Given the description of an element on the screen output the (x, y) to click on. 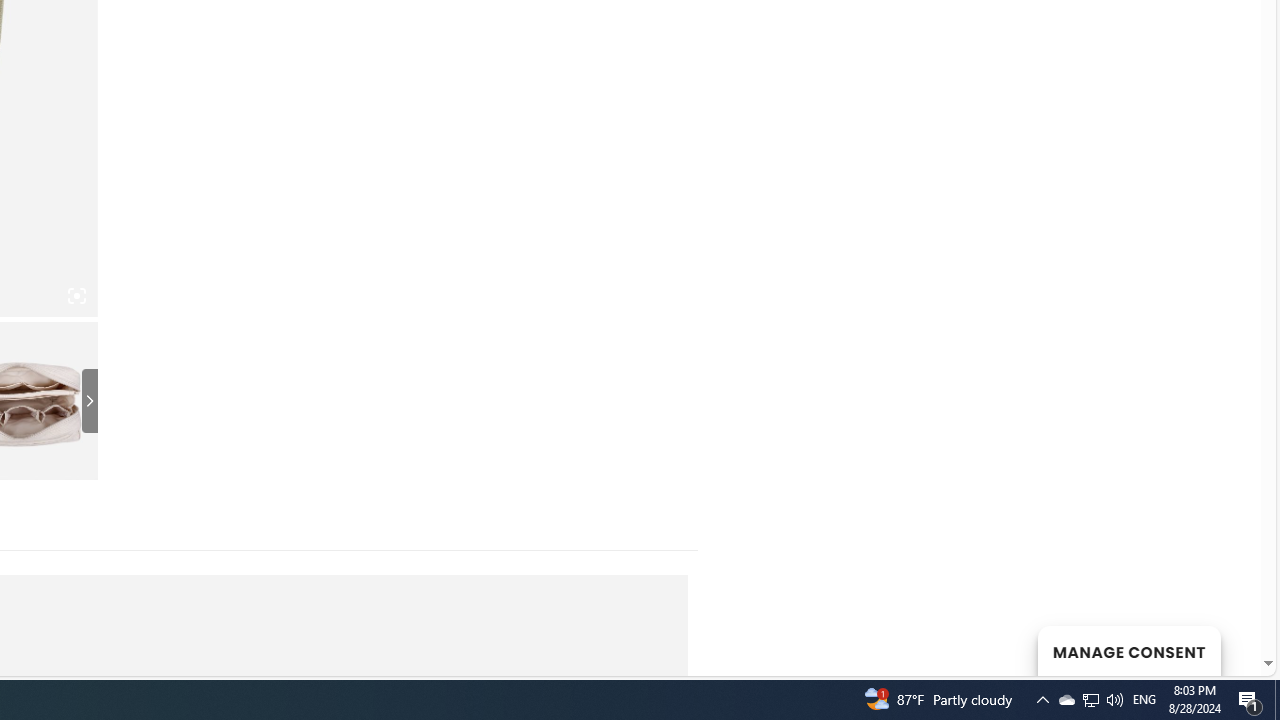
MANAGE CONSENT (1128, 650)
Class: iconic-woothumbs-fullscreen (75, 296)
